Given the description of an element on the screen output the (x, y) to click on. 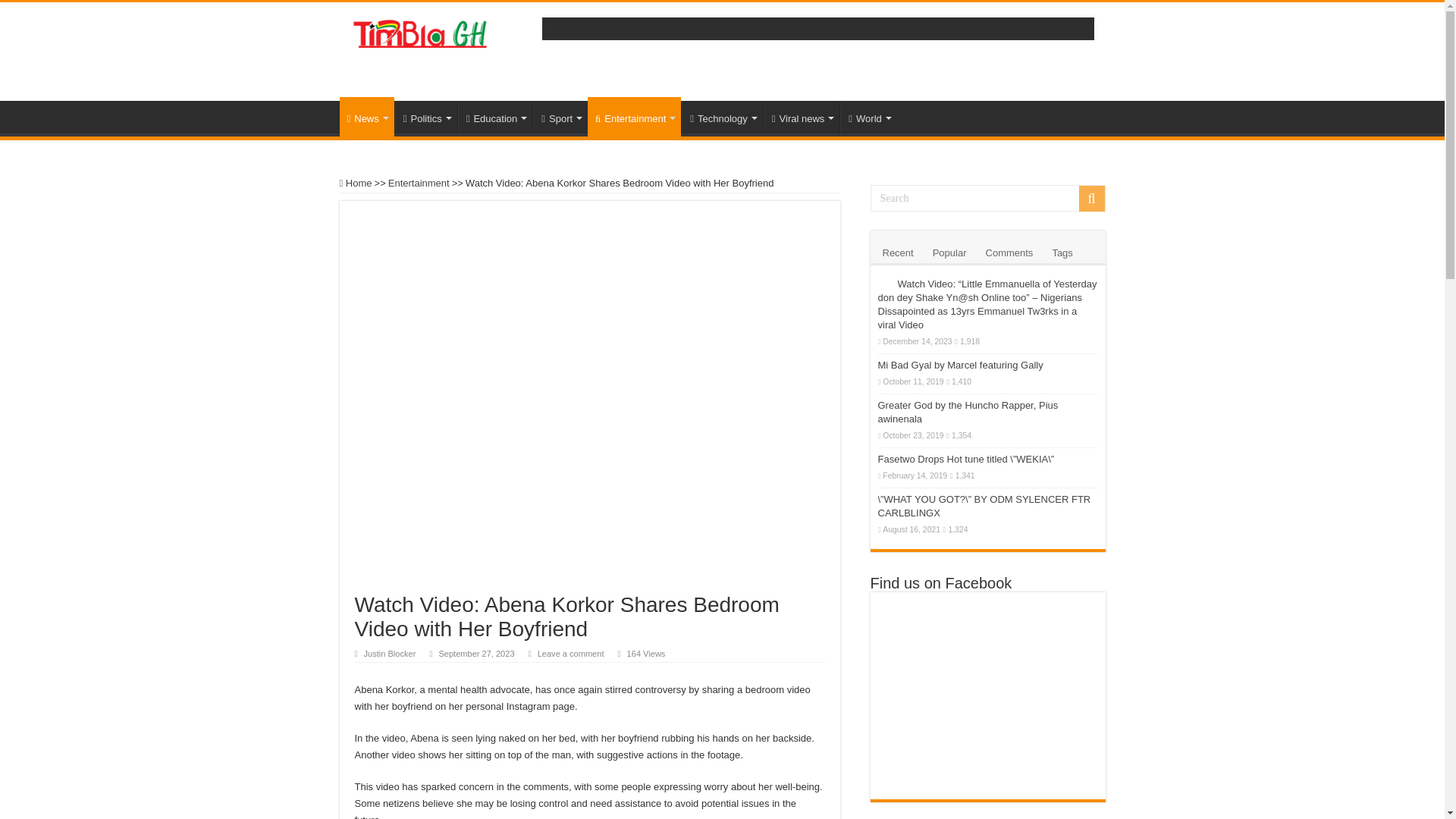
TImBia GH (418, 36)
Politics (425, 116)
advertise (817, 50)
Search (987, 198)
News (366, 116)
Education (495, 116)
